Given the description of an element on the screen output the (x, y) to click on. 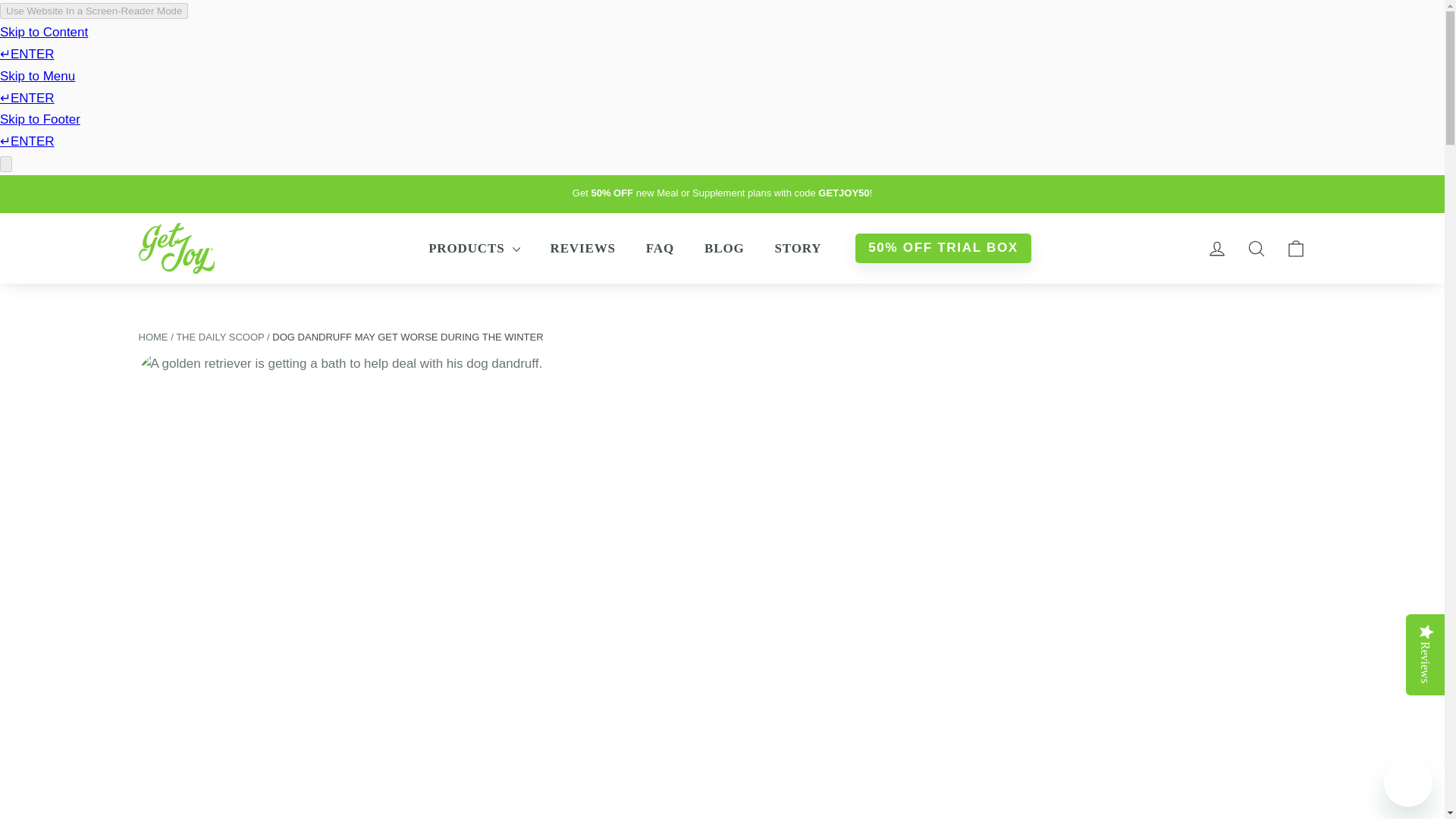
PRODUCTS (473, 248)
Back to the frontpage (152, 337)
REVIEWS (582, 248)
